Given the description of an element on the screen output the (x, y) to click on. 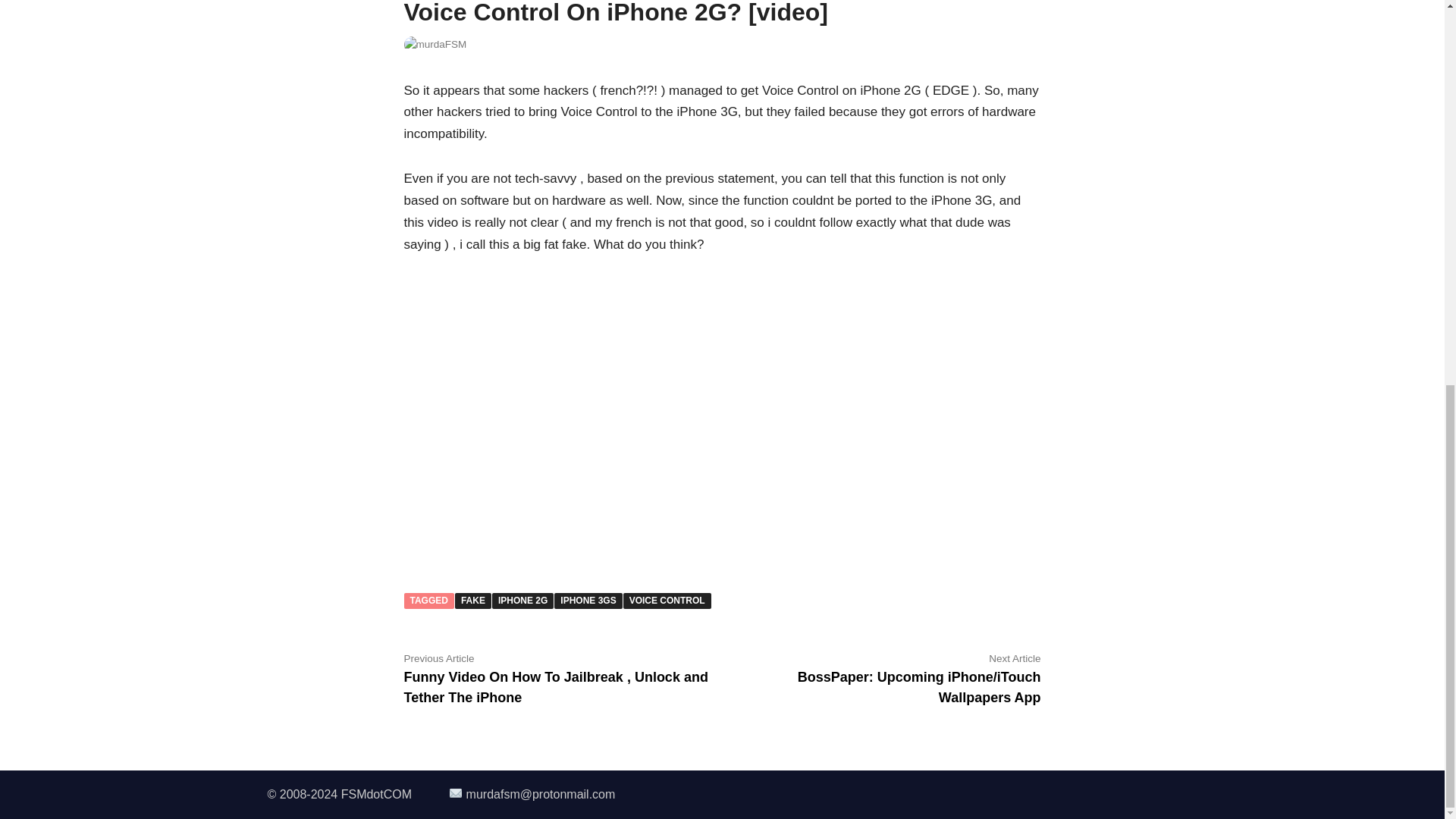
IPHONE 2G (522, 600)
IPHONE 3GS (587, 600)
FAKE (473, 600)
VOICE CONTROL (667, 600)
